Given the description of an element on the screen output the (x, y) to click on. 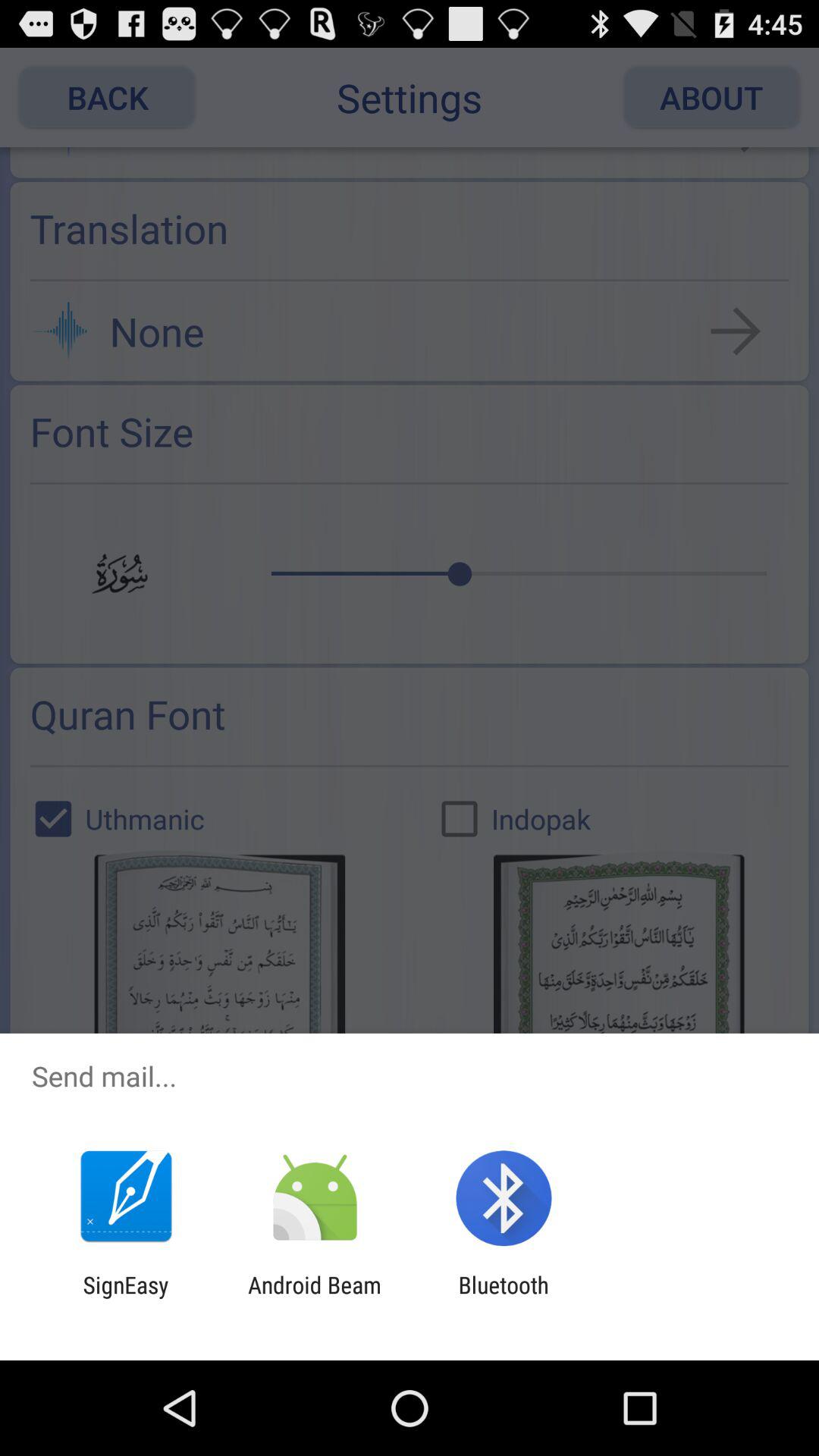
turn on app to the right of the signeasy icon (314, 1298)
